Given the description of an element on the screen output the (x, y) to click on. 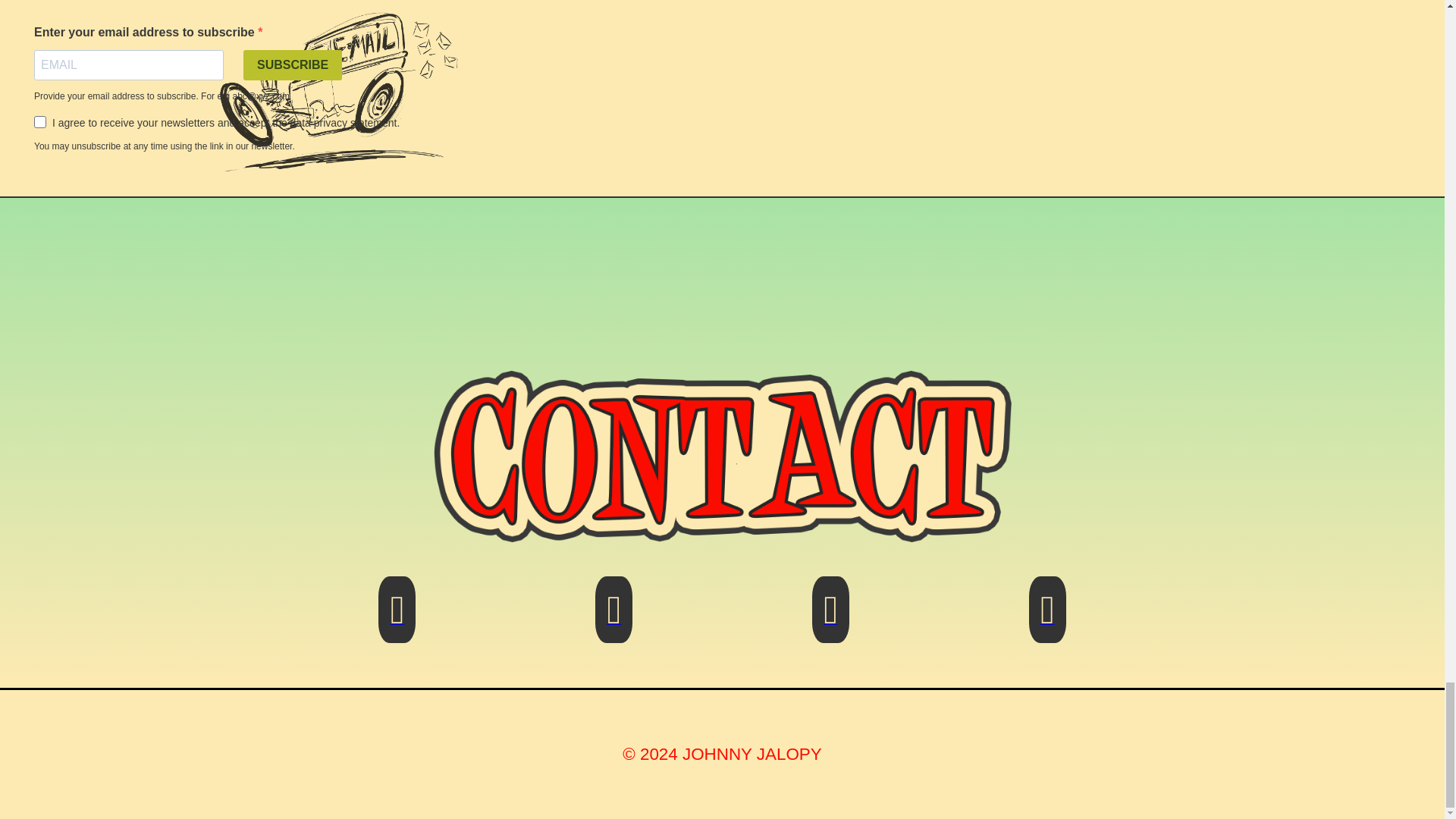
Like Johnny on Facebook! (613, 618)
SUBSCRIBE (292, 64)
Email Johnny! (396, 618)
Watch Johnny on YouTube! (1047, 618)
Follow Johnny on Instagram! (830, 618)
